Given the description of an element on the screen output the (x, y) to click on. 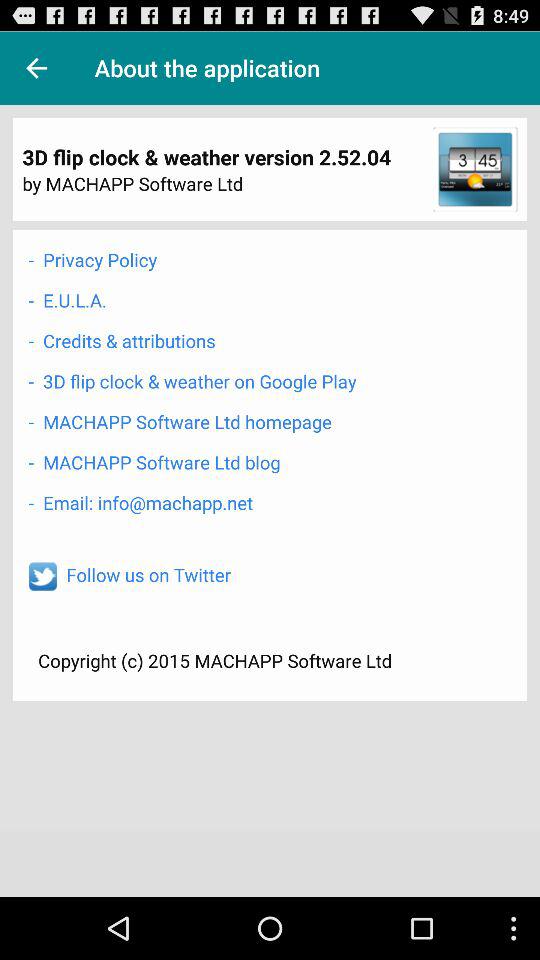
turn on the item below by machapp software (92, 259)
